Given the description of an element on the screen output the (x, y) to click on. 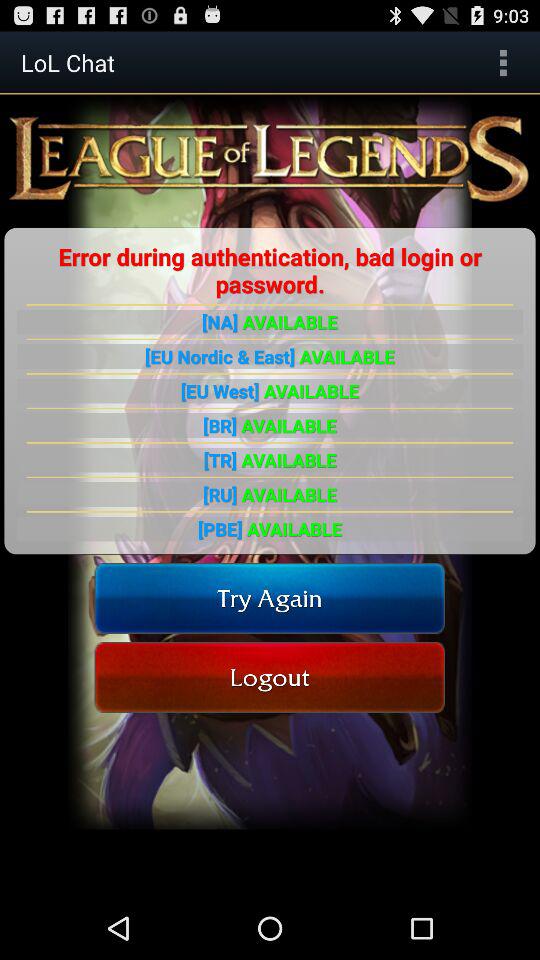
choose try again icon (269, 597)
